Given the description of an element on the screen output the (x, y) to click on. 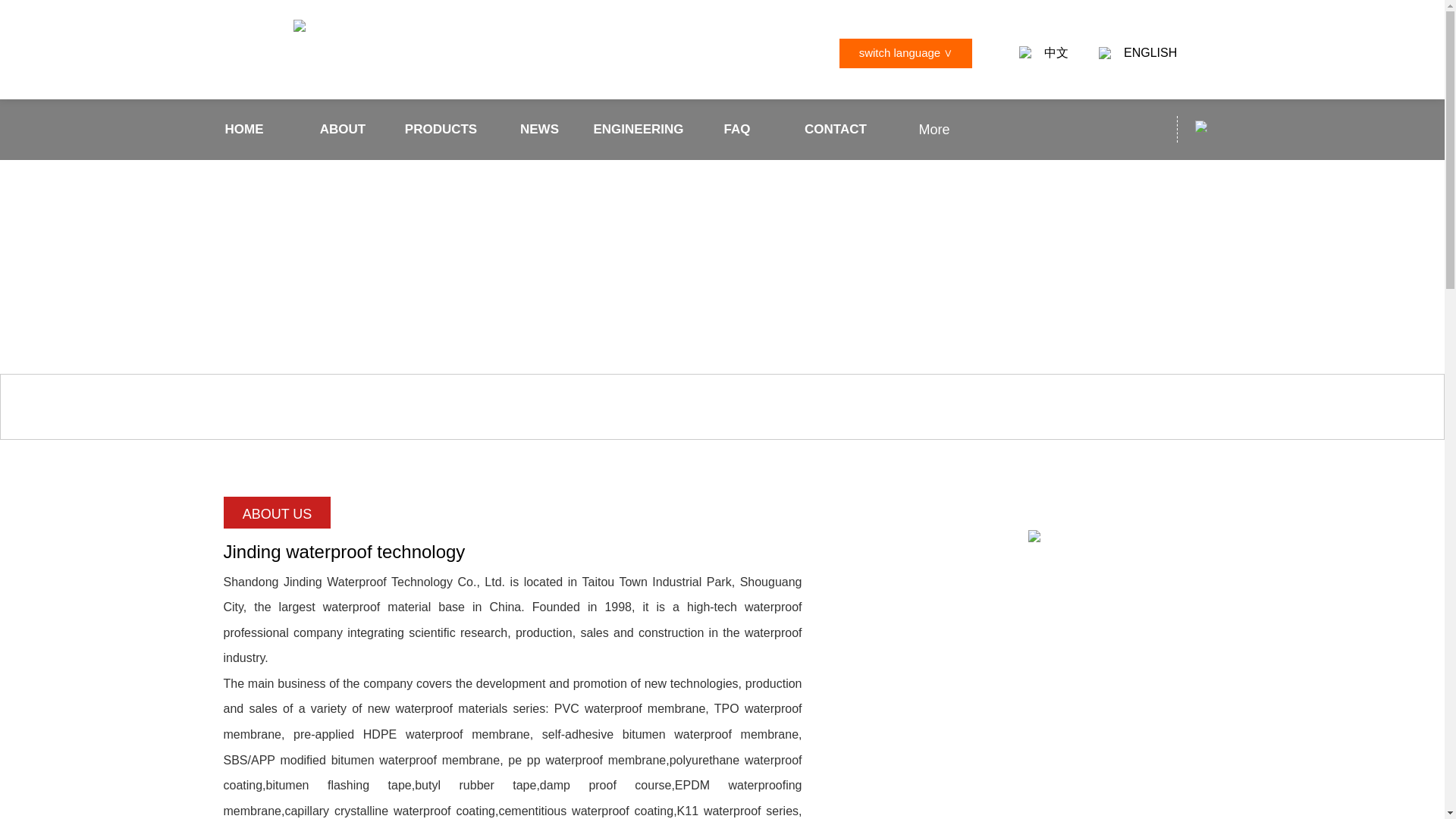
logo (298, 25)
HOME (244, 129)
NEWS (539, 129)
FAQ (737, 129)
pic (1034, 535)
ABOUT (342, 129)
ENGLISH (1150, 53)
CONTACT (836, 129)
PRODUCTS (440, 129)
More (933, 129)
CN (1201, 126)
ENGINEERING (638, 129)
CN (1024, 51)
